Given the description of an element on the screen output the (x, y) to click on. 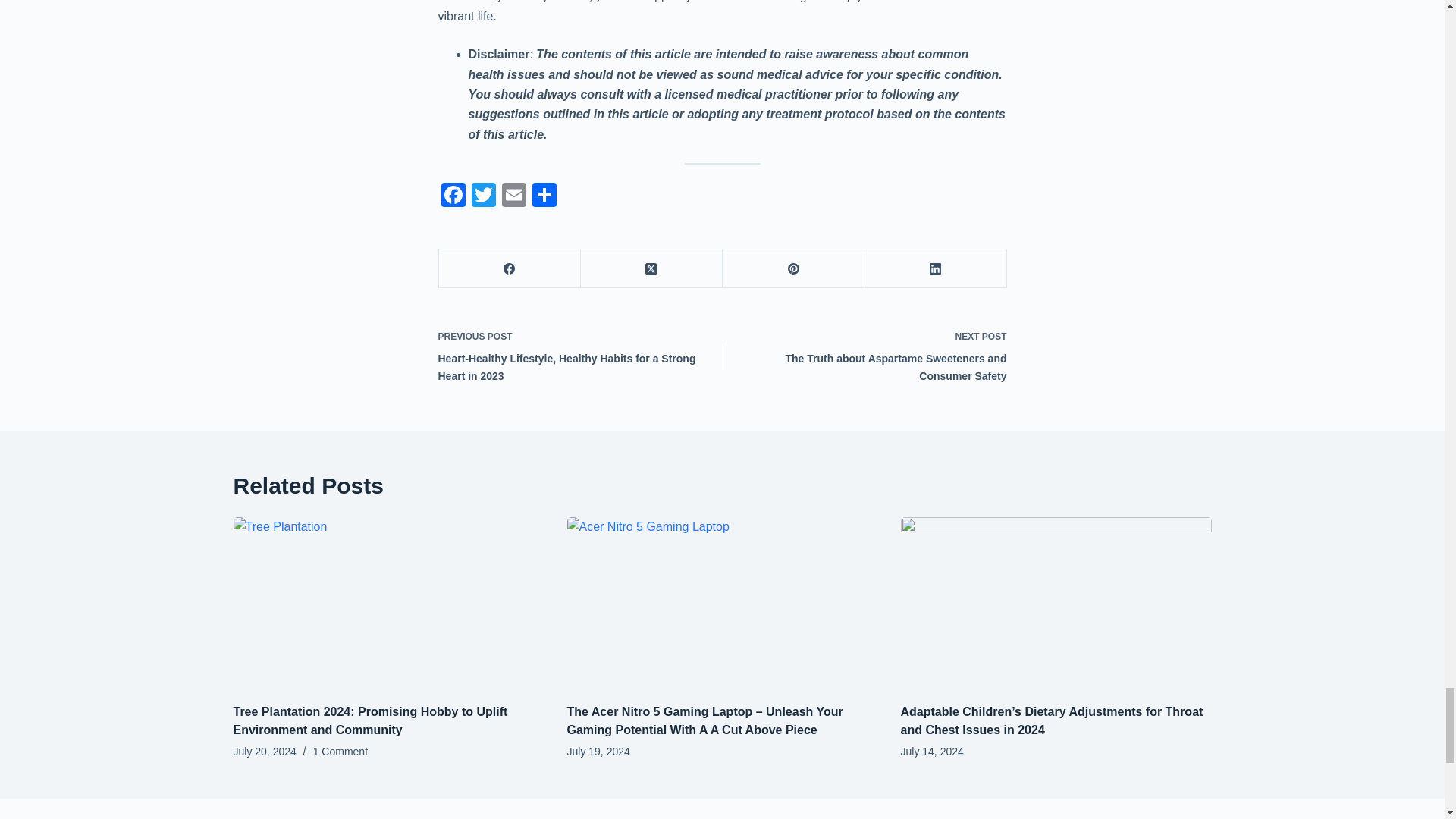
Twitter (483, 196)
Facebook (453, 196)
Share (544, 196)
Facebook (453, 196)
Email (514, 196)
Email (514, 196)
Twitter (483, 196)
